Given the description of an element on the screen output the (x, y) to click on. 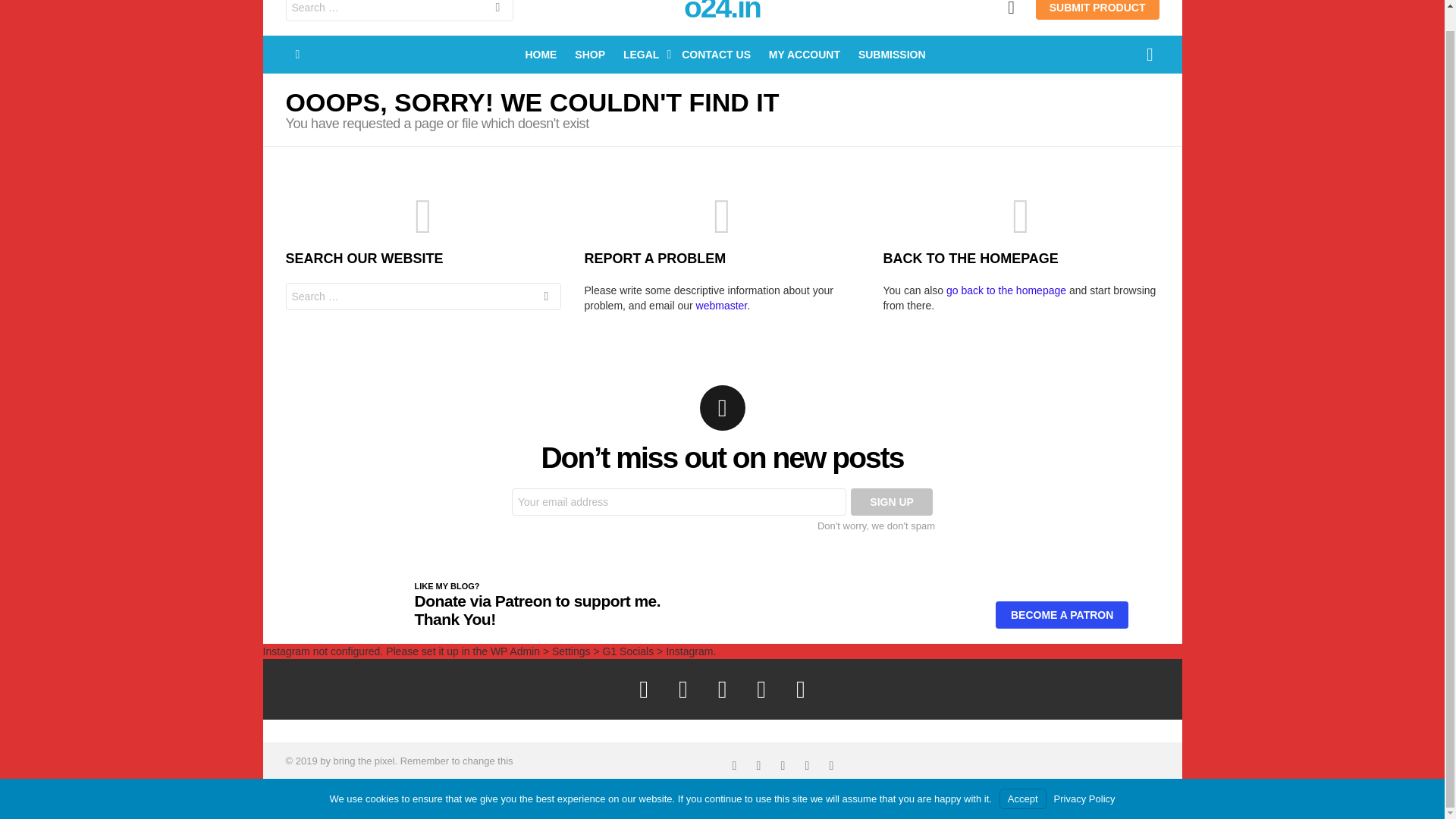
HOME (540, 54)
Shop (971, 800)
BECOME A PATRON (1061, 614)
facebook (733, 765)
twitter (757, 765)
SEARCH (545, 297)
Search for: (422, 296)
youtube (830, 765)
o24.in (722, 11)
go back to the homepage (1005, 290)
